Given the description of an element on the screen output the (x, y) to click on. 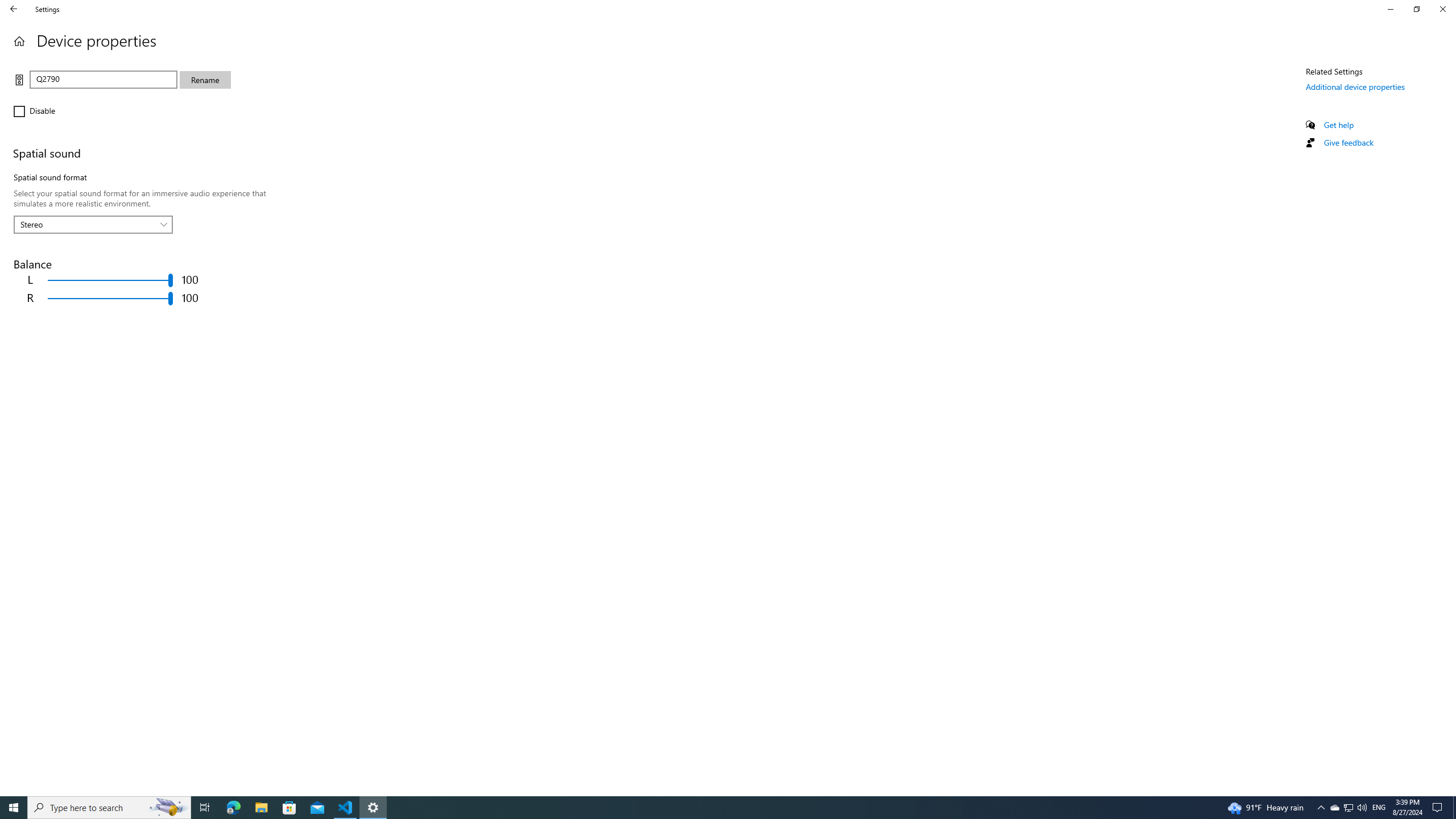
Give feedback (1348, 142)
Adjust left audio balance (110, 280)
Additional device properties (1355, 86)
Close Settings (1442, 9)
Task View (204, 807)
Microsoft Edge (233, 807)
Search highlights icon opens search home window (167, 807)
Running applications (706, 807)
Text box to change device name (103, 79)
Type here to search (108, 807)
Get help (1338, 124)
Restore Settings (1416, 9)
